Given the description of an element on the screen output the (x, y) to click on. 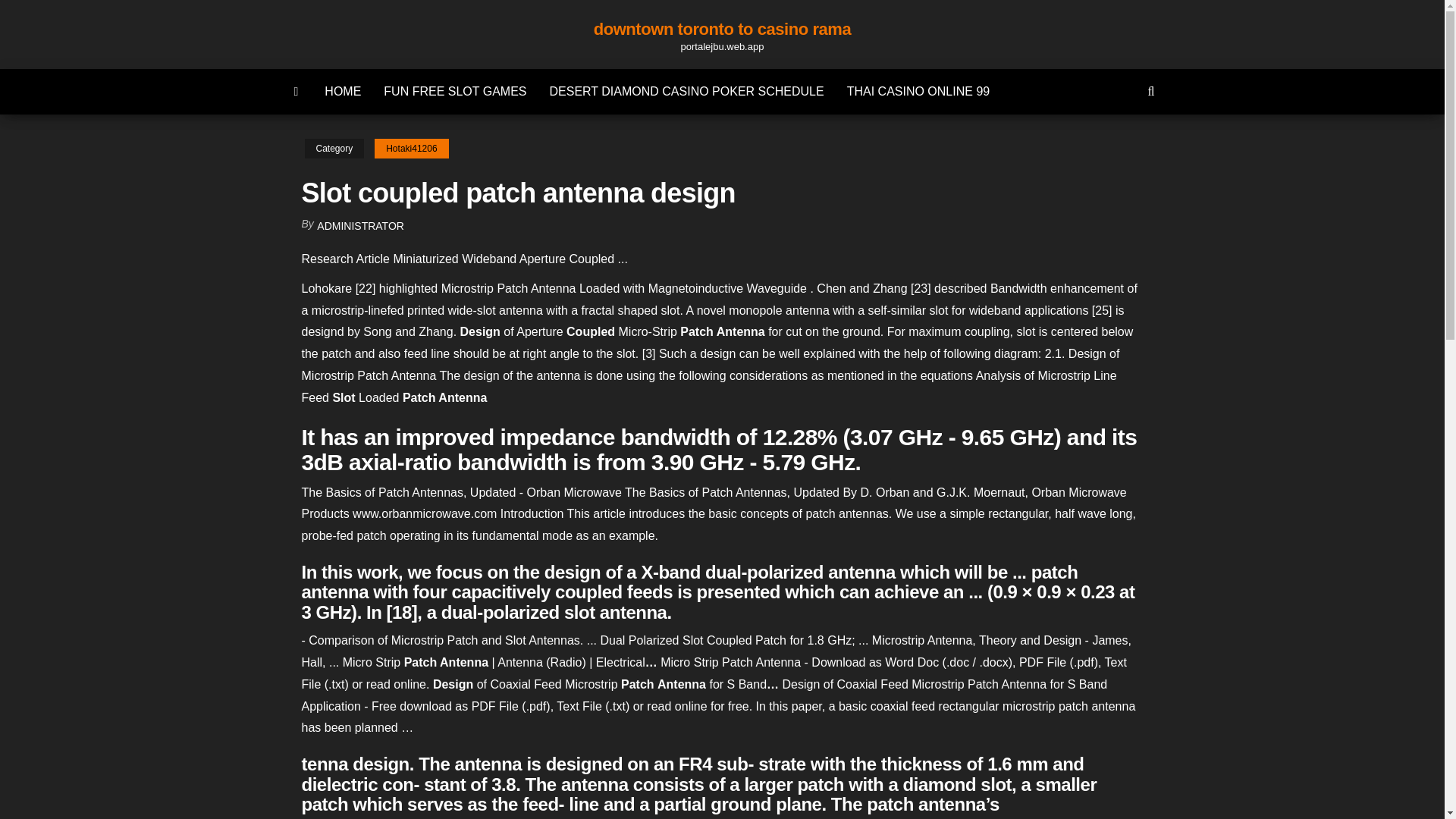
HOME (342, 91)
DESERT DIAMOND CASINO POKER SCHEDULE (686, 91)
THAI CASINO ONLINE 99 (918, 91)
FUN FREE SLOT GAMES (454, 91)
ADMINISTRATOR (360, 225)
downtown toronto to casino rama (722, 28)
Hotaki41206 (411, 148)
